Given the description of an element on the screen output the (x, y) to click on. 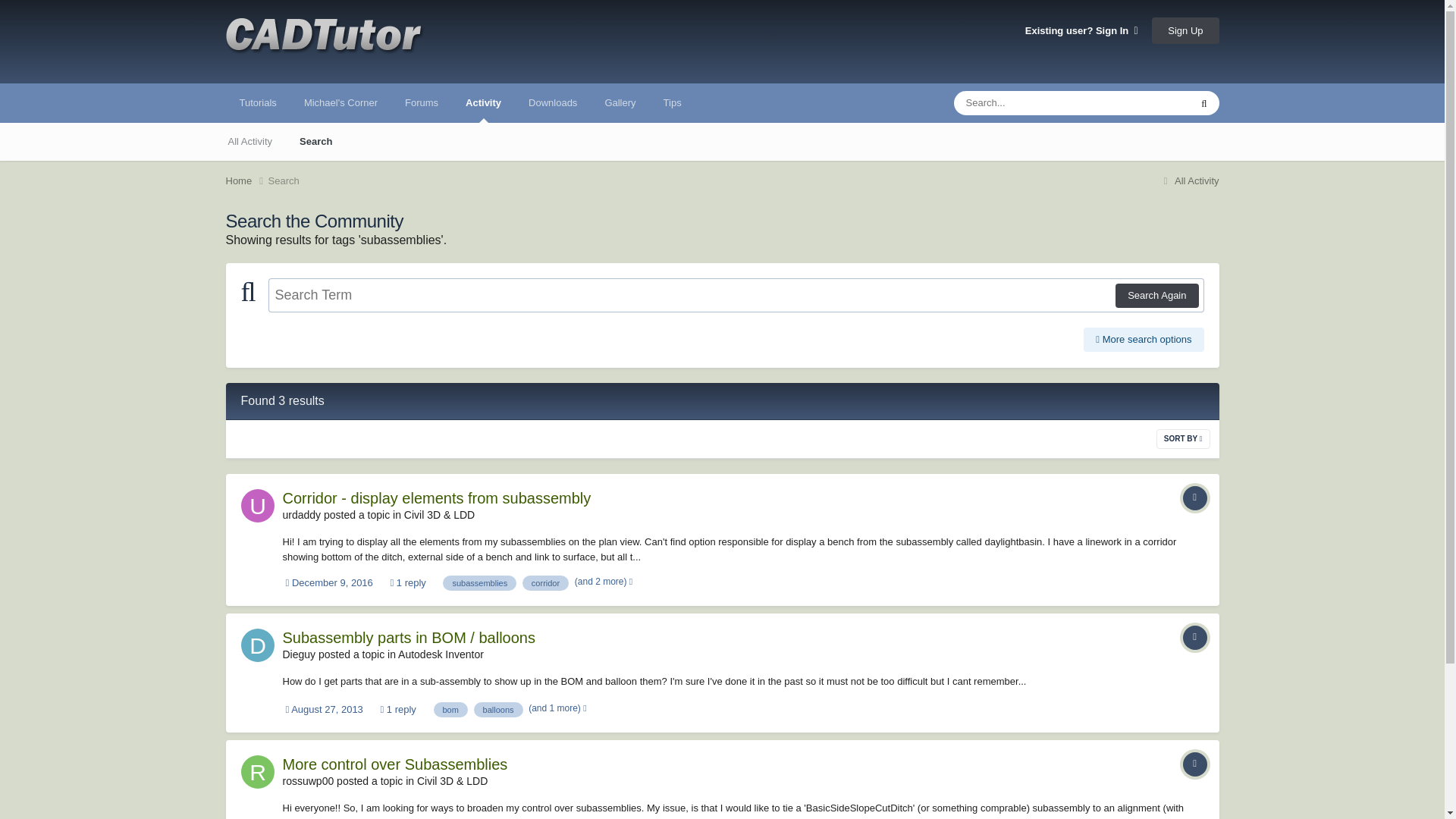
Topic (1194, 498)
Topic (1194, 637)
Find other content tagged with 'bom' (450, 709)
Sign Up (1184, 29)
More search options (1143, 339)
Find other content tagged with 'balloons' (498, 709)
Find other content tagged with 'subassemblies' (479, 582)
Activity (483, 102)
Existing user? Sign In   (1081, 30)
Home (246, 181)
Gallery (620, 102)
Find other content tagged with 'corridor' (545, 582)
Tips (672, 102)
Downloads (553, 102)
Search (283, 180)
